Given the description of an element on the screen output the (x, y) to click on. 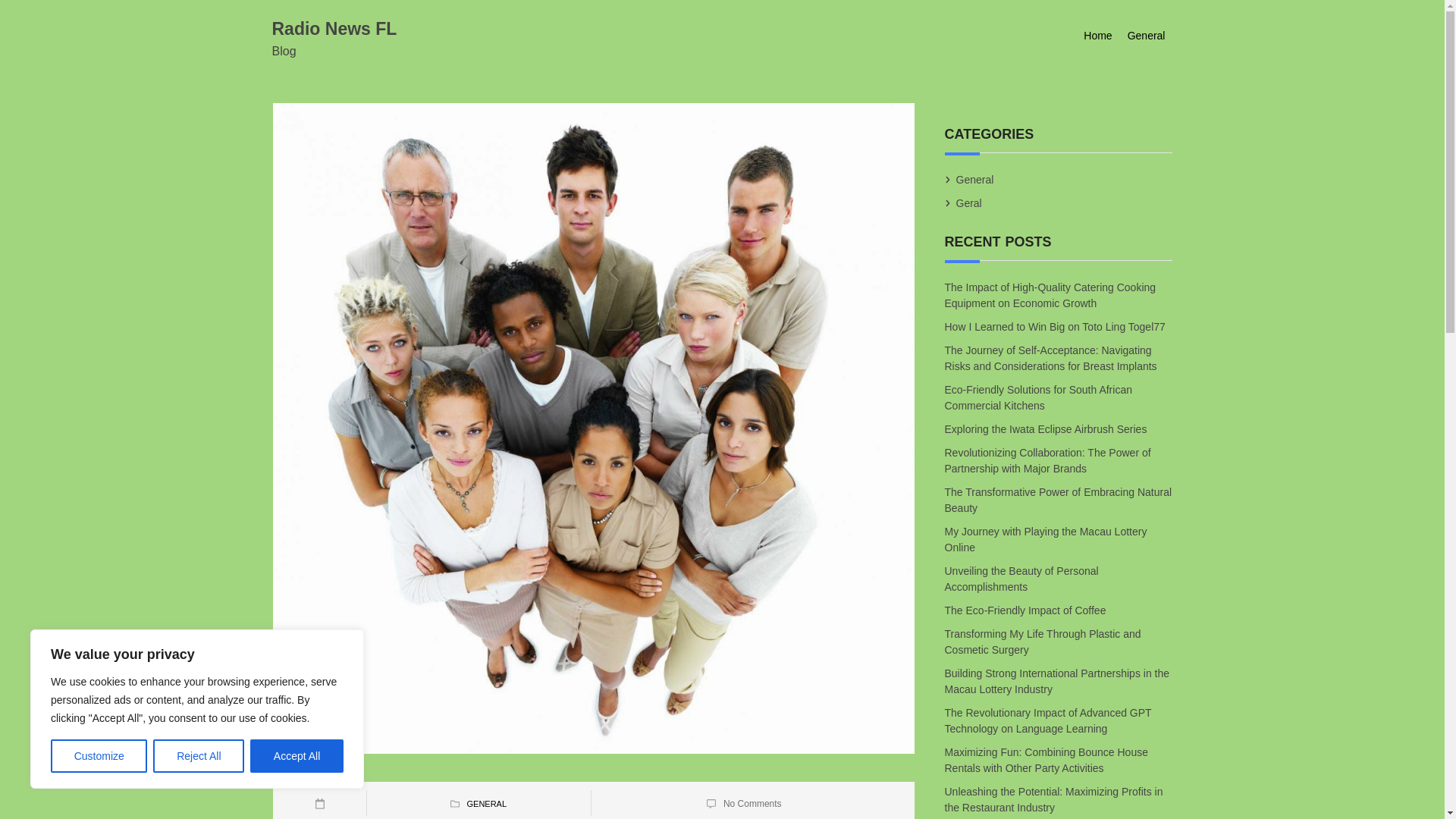
How I Learned to Win Big on Toto Ling Togel77 (1055, 326)
Accept All (296, 756)
Unveiling the Beauty of Personal Accomplishments (1021, 578)
Home (1097, 35)
General (1146, 35)
No Comments (752, 803)
Geral (968, 203)
Radio News FL (333, 28)
My Journey with Playing the Macau Lottery Online (1045, 539)
Exploring the Iwata Eclipse Airbrush Series (1046, 429)
Eco-Friendly Solutions for South African Commercial Kitchens (1038, 398)
GENERAL (485, 803)
